Given the description of an element on the screen output the (x, y) to click on. 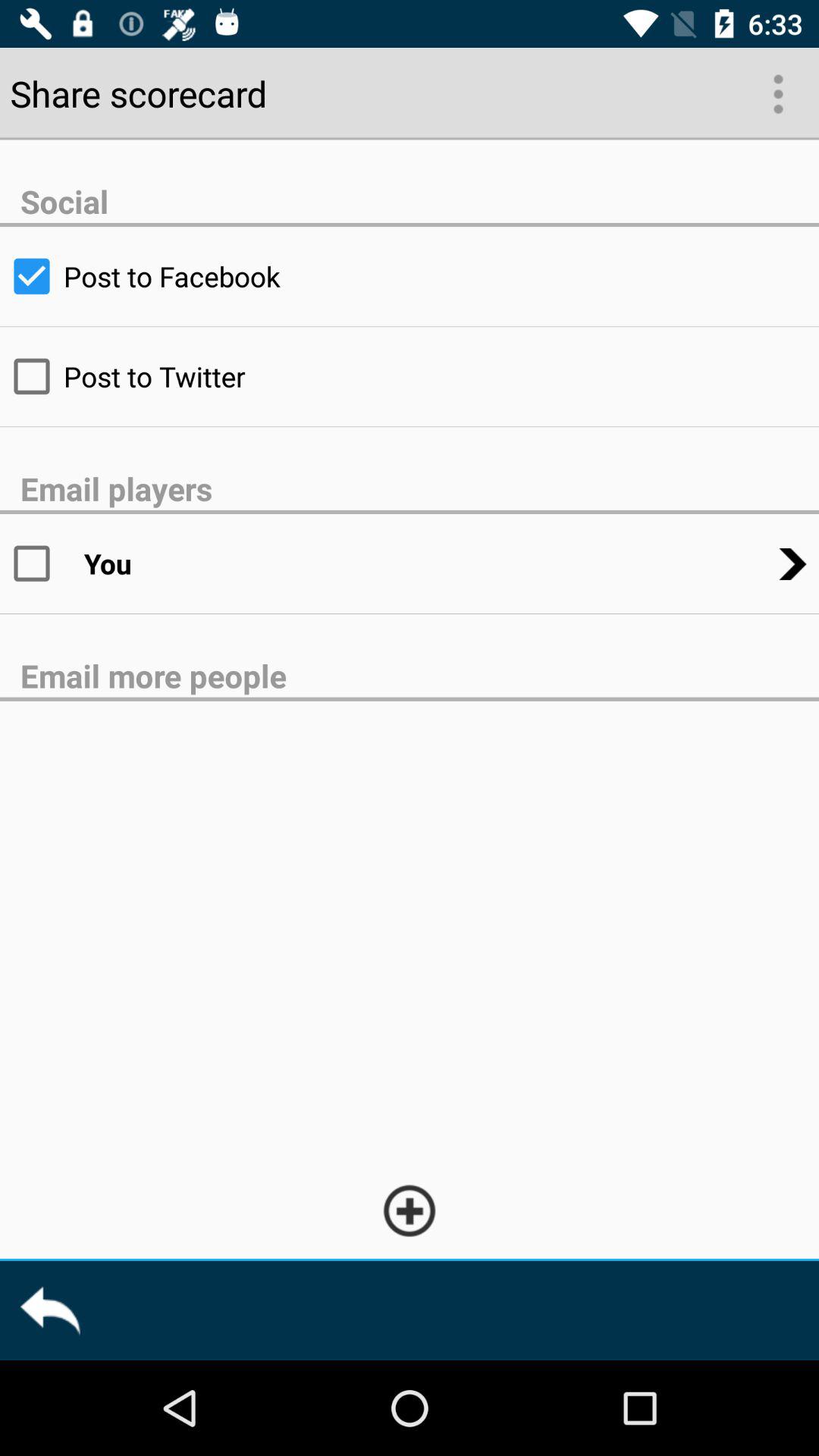
add recipient (409, 1210)
